Given the description of an element on the screen output the (x, y) to click on. 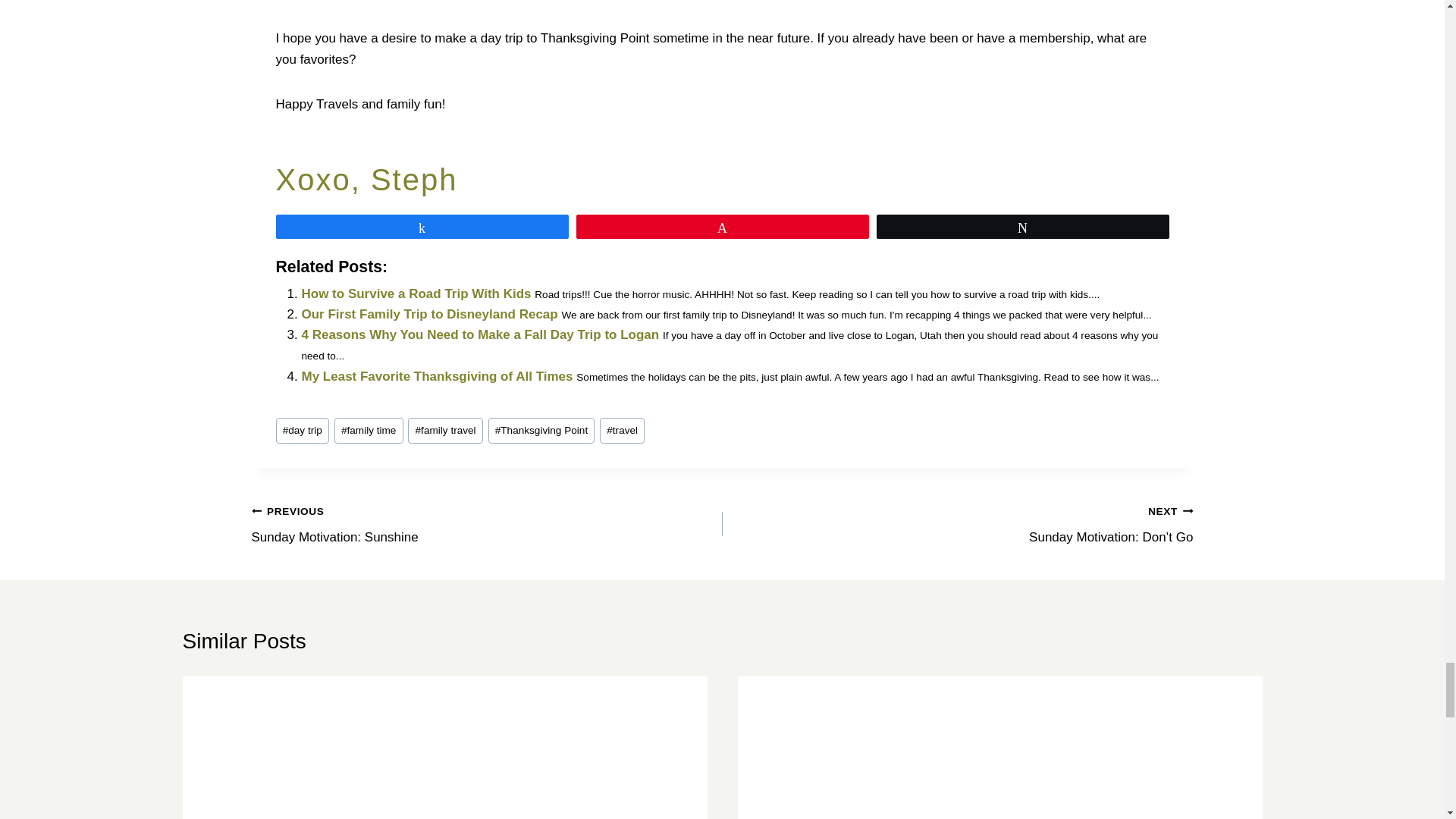
Our First Family Trip to Disneyland Recap (429, 314)
4 Reasons Why You Need to Make a Fall Day Trip to Logan (480, 334)
family time (368, 430)
family travel (444, 430)
4 Reasons Why You Need to Make a Fall Day Trip to Logan (480, 334)
Thanksgiving Point (541, 430)
day trip (302, 430)
Our First Family Trip to Disneyland Recap (429, 314)
How to Survive a Road Trip With Kids (416, 293)
My Least Favorite Thanksgiving of All Times (437, 376)
travel (622, 430)
My Least Favorite Thanksgiving of All Times (486, 523)
How to Survive a Road Trip With Kids (437, 376)
